Given the description of an element on the screen output the (x, y) to click on. 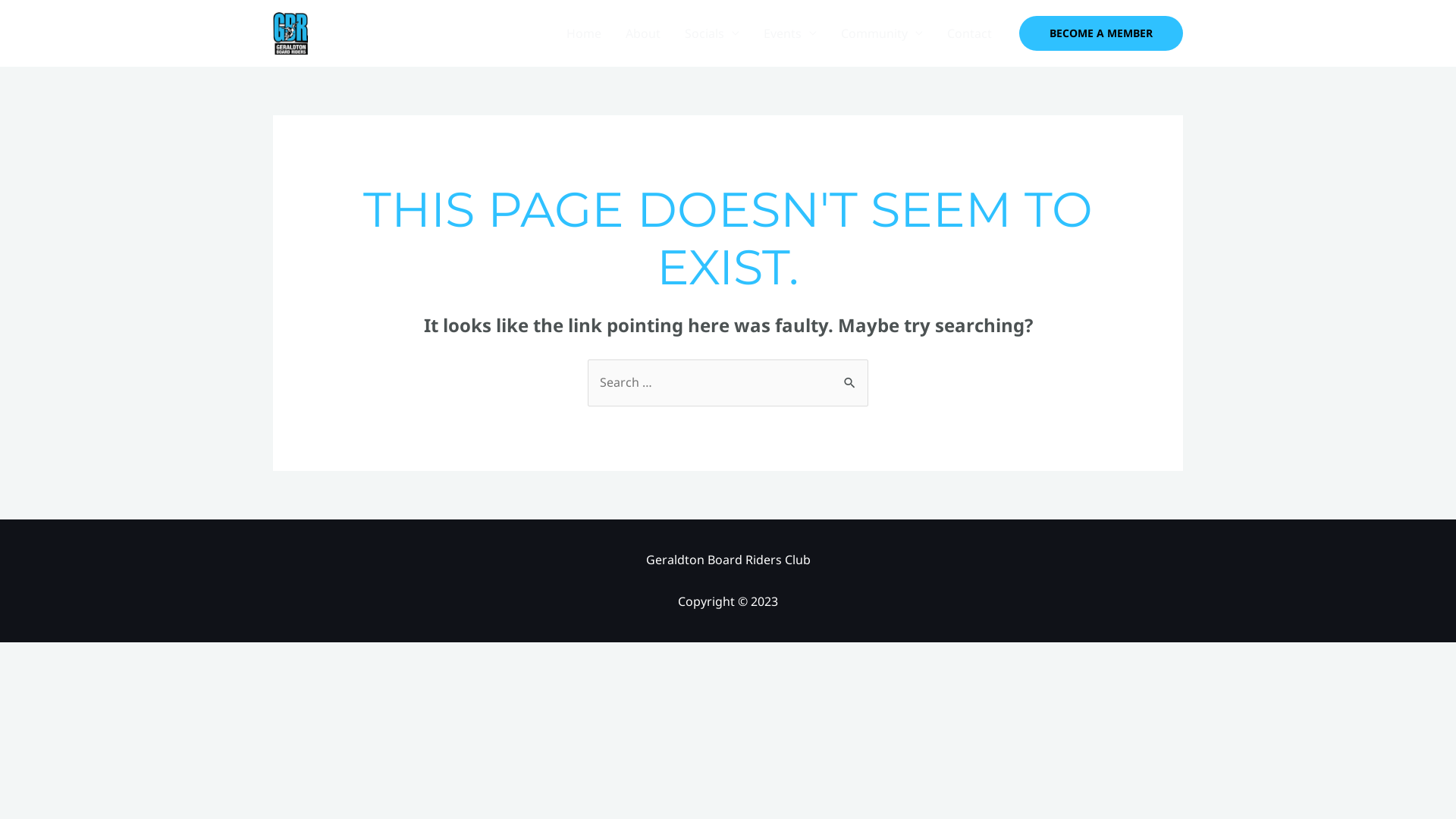
Home Element type: text (583, 32)
About Element type: text (642, 32)
Search Element type: text (851, 374)
Events Element type: text (789, 32)
Contact Element type: text (969, 32)
BECOME A MEMBER Element type: text (1101, 32)
Socials Element type: text (711, 32)
Community Element type: text (881, 32)
